Given the description of an element on the screen output the (x, y) to click on. 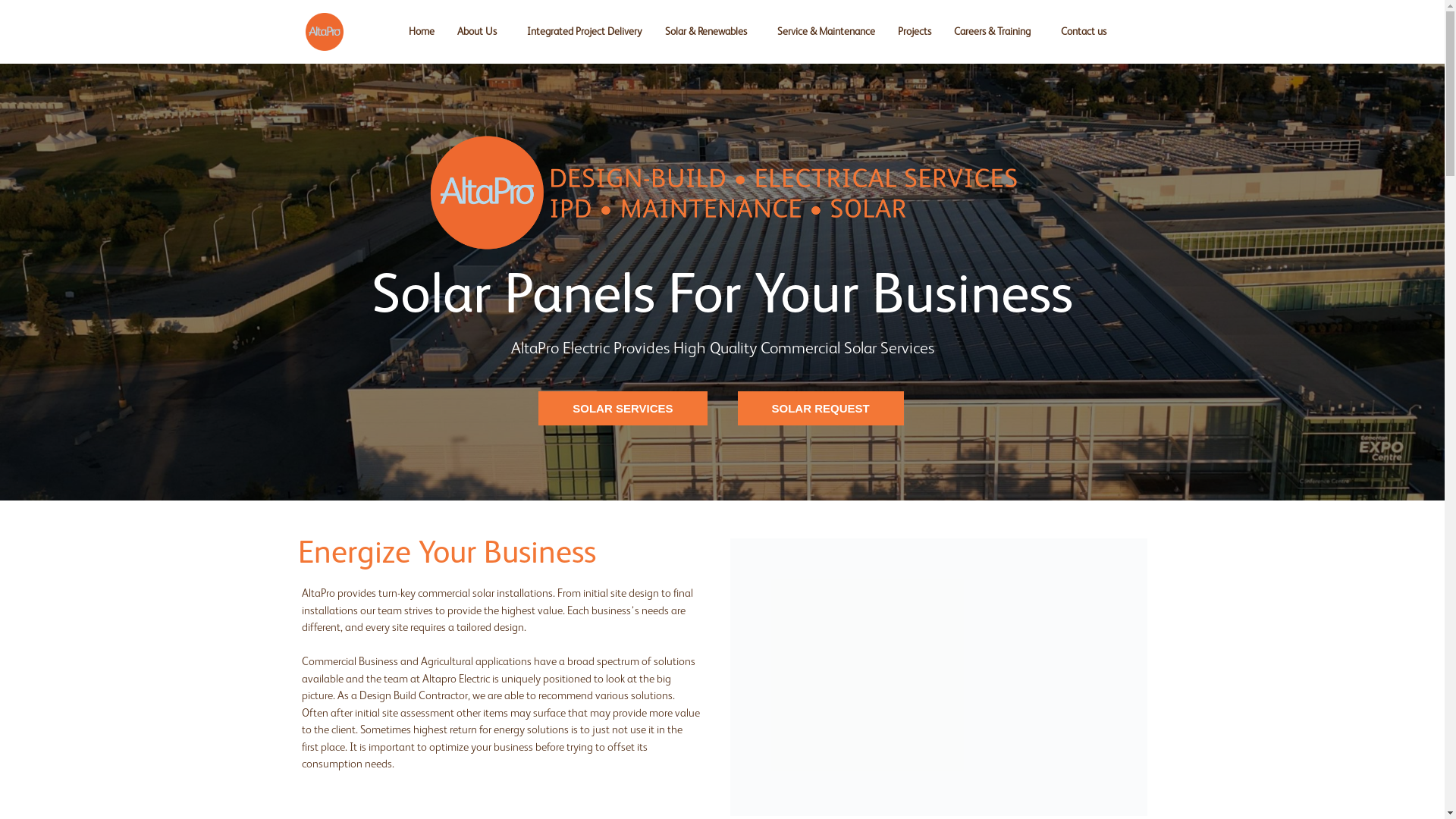
Contact us Element type: text (1087, 31)
Service & Maintenance Element type: text (825, 31)
SOLAR SERVICES Element type: text (622, 408)
Careers & Training Element type: text (995, 31)
Integrated Project Delivery Element type: text (584, 31)
About Us Element type: text (480, 31)
Projects Element type: text (914, 31)
Solar & Renewables Element type: text (709, 31)
Home Element type: text (421, 31)
SOLAR REQUEST Element type: text (820, 408)
AltaPro_Logo_UpdatedTagline_V2 Element type: hover (721, 192)
